Given the description of an element on the screen output the (x, y) to click on. 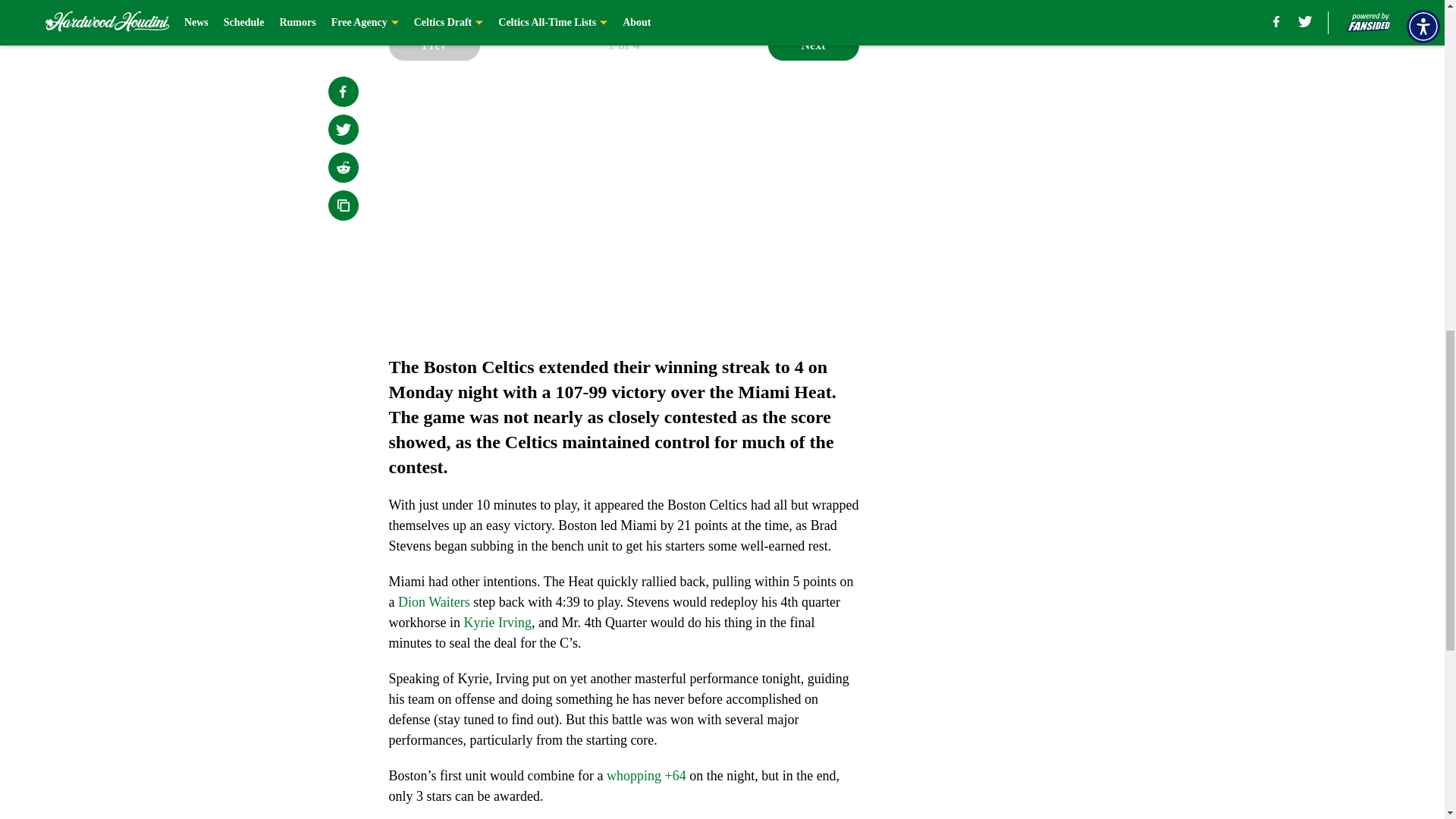
Prev (433, 45)
Dion Waiters (433, 601)
Kyrie Irving (497, 622)
Next (813, 45)
